Given the description of an element on the screen output the (x, y) to click on. 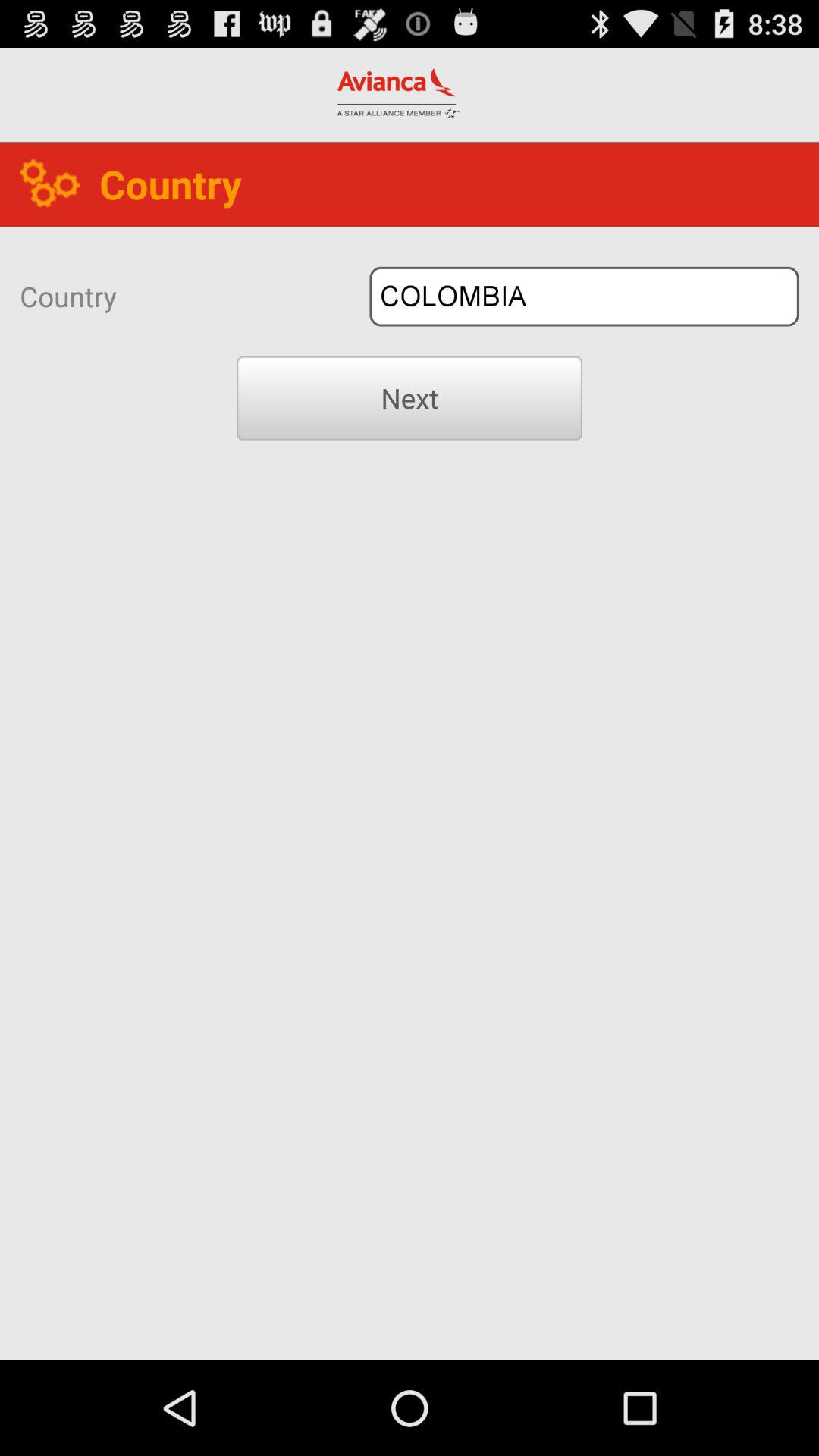
click icon to the right of country icon (584, 296)
